Given the description of an element on the screen output the (x, y) to click on. 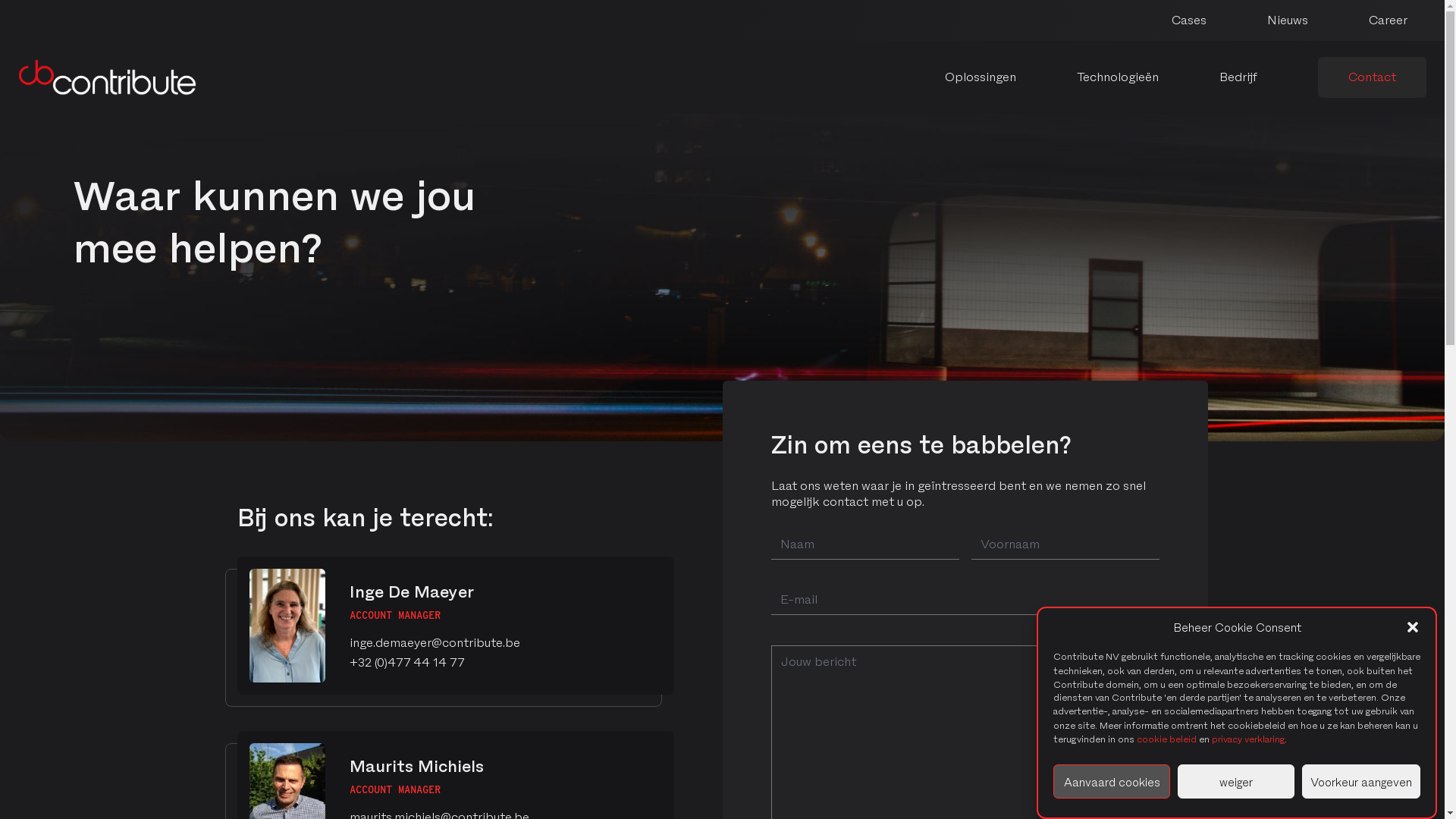
weiger Element type: text (1235, 781)
privacy verklaring Element type: text (1247, 737)
Aanvaard cookies Element type: text (1111, 781)
Career Element type: text (1387, 20)
Oplossingen Element type: text (980, 77)
inge.demaeyer@contribute.be Element type: text (433, 641)
cookie beleid Element type: text (1166, 737)
Contact Element type: text (1371, 76)
Bedrijf Element type: text (1238, 77)
+32 (0)477 44 14 77 Element type: text (405, 661)
Nieuws Element type: text (1287, 20)
Cases Element type: text (1188, 20)
Voorkeur aangeven Element type: text (1361, 781)
